Given the description of an element on the screen output the (x, y) to click on. 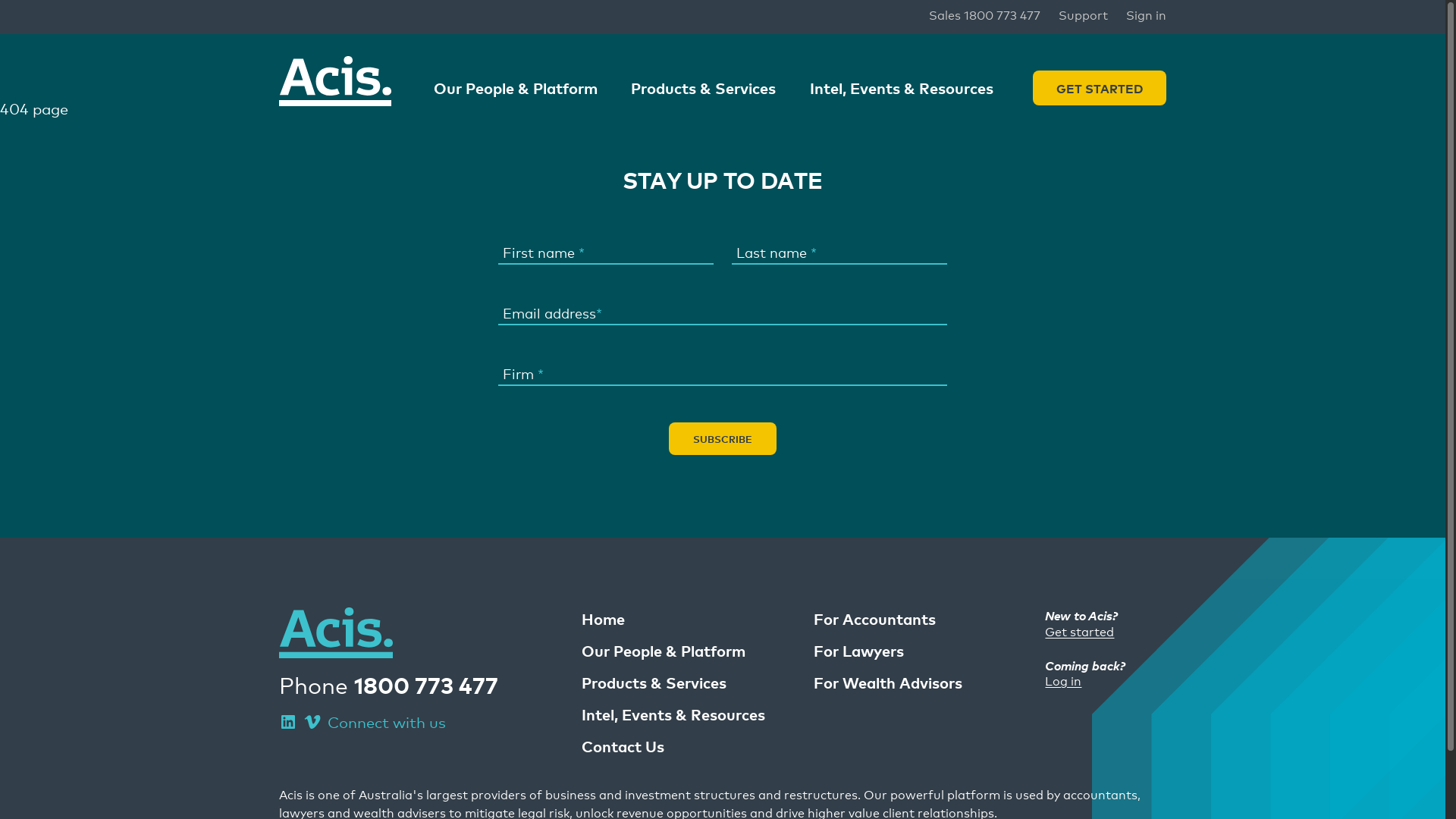
Our People & Platform Element type: text (515, 87)
Sales 1800 773 477 Element type: text (984, 14)
Acis Element type: hover (335, 632)
Contact Us Element type: text (622, 745)
Get started Element type: text (1078, 630)
1800 773 477 Element type: text (426, 683)
Support Element type: text (1082, 14)
Intel, Events & Resources Element type: text (673, 713)
Products & Services Element type: text (653, 681)
Log in Element type: text (1062, 679)
Intel, Events & Resources Element type: text (901, 87)
Home Element type: text (602, 618)
For Wealth Advisors Element type: text (887, 681)
Our People & Platform Element type: text (663, 650)
Acis Element type: hover (335, 81)
Sign in Element type: text (1146, 14)
For Lawyers Element type: text (858, 650)
For Accountants Element type: text (874, 618)
Products & Services Element type: text (702, 87)
GET STARTED Element type: text (1099, 87)
